Given the description of an element on the screen output the (x, y) to click on. 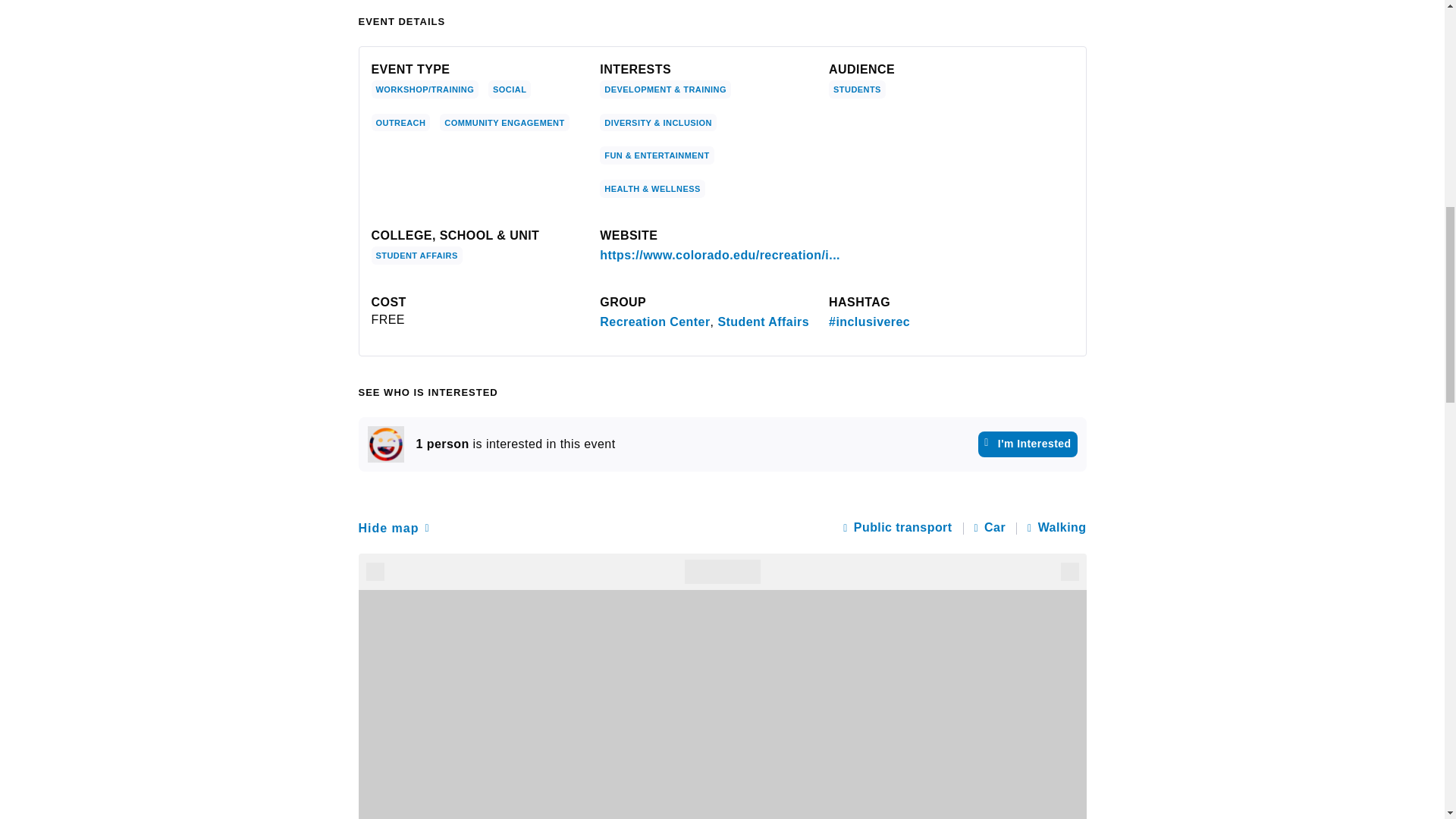
Madeleine Chalifoux-Gene (384, 443)
SOCIAL (509, 89)
